Given the description of an element on the screen output the (x, y) to click on. 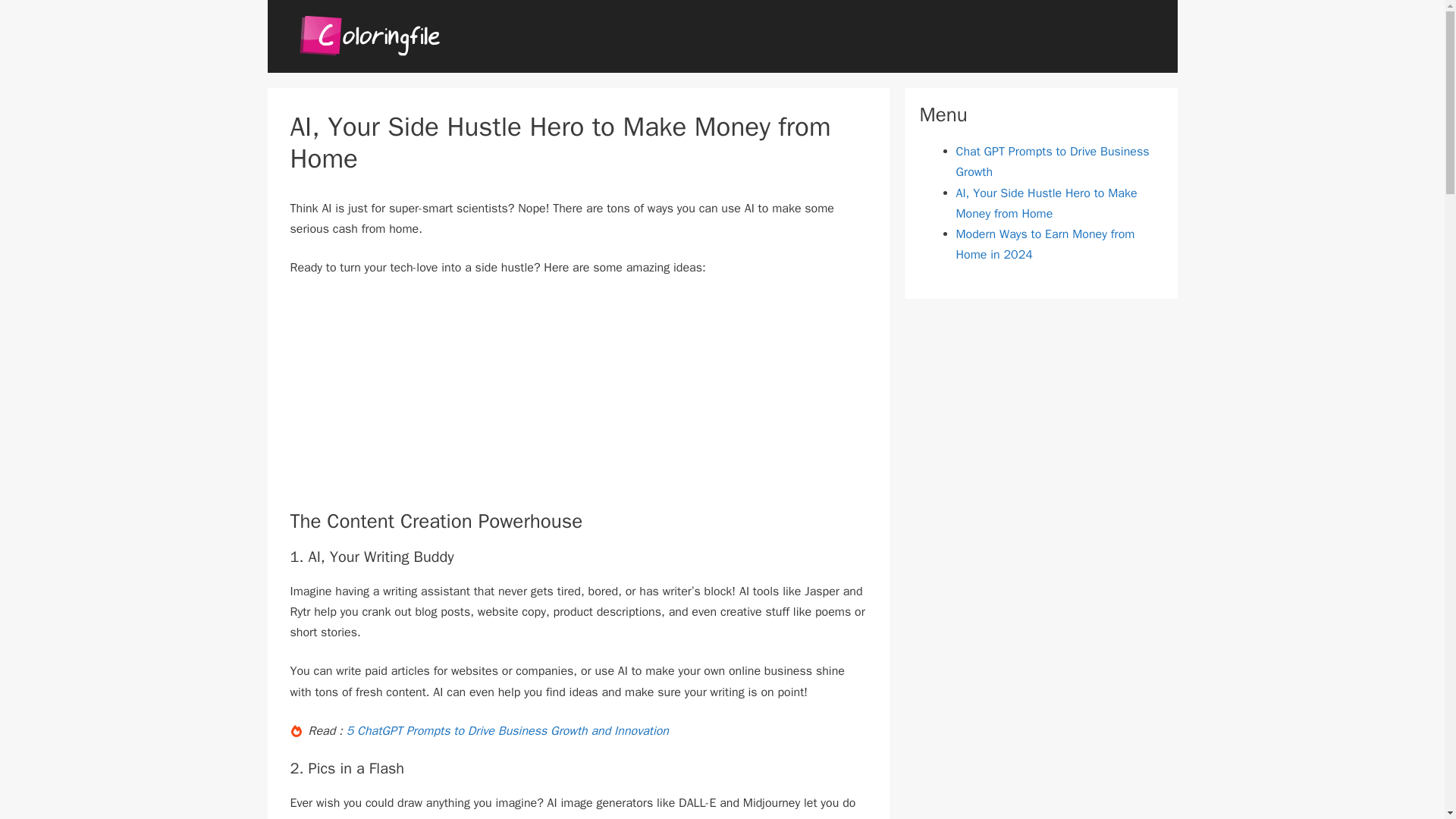
5 ChatGPT Prompts to Drive Business Growth and Innovation (507, 730)
Chat GPT Prompts to Drive Business Growth (1051, 161)
Advertisement (577, 403)
Modern Ways to Earn Money from Home in 2024 (1044, 244)
AI, Your Side Hustle Hero to Make Money from Home (1046, 203)
